Given the description of an element on the screen output the (x, y) to click on. 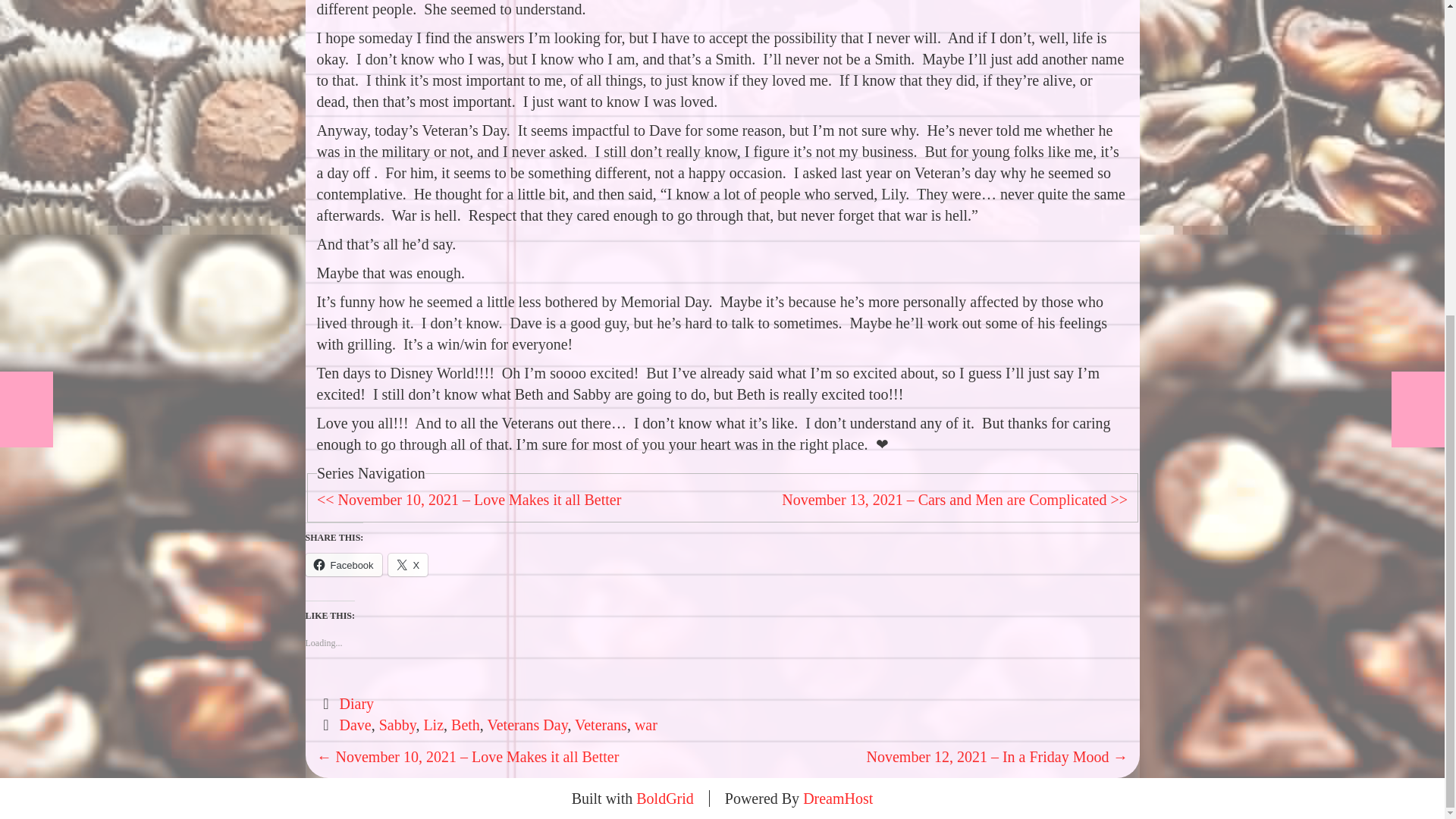
Click to share on Facebook (342, 564)
Veterans (601, 724)
war (646, 724)
Sabby (397, 724)
BoldGrid (665, 798)
Liz (433, 724)
Veterans Day (526, 724)
X (408, 564)
Click to share on X (408, 564)
Facebook (342, 564)
